Given the description of an element on the screen output the (x, y) to click on. 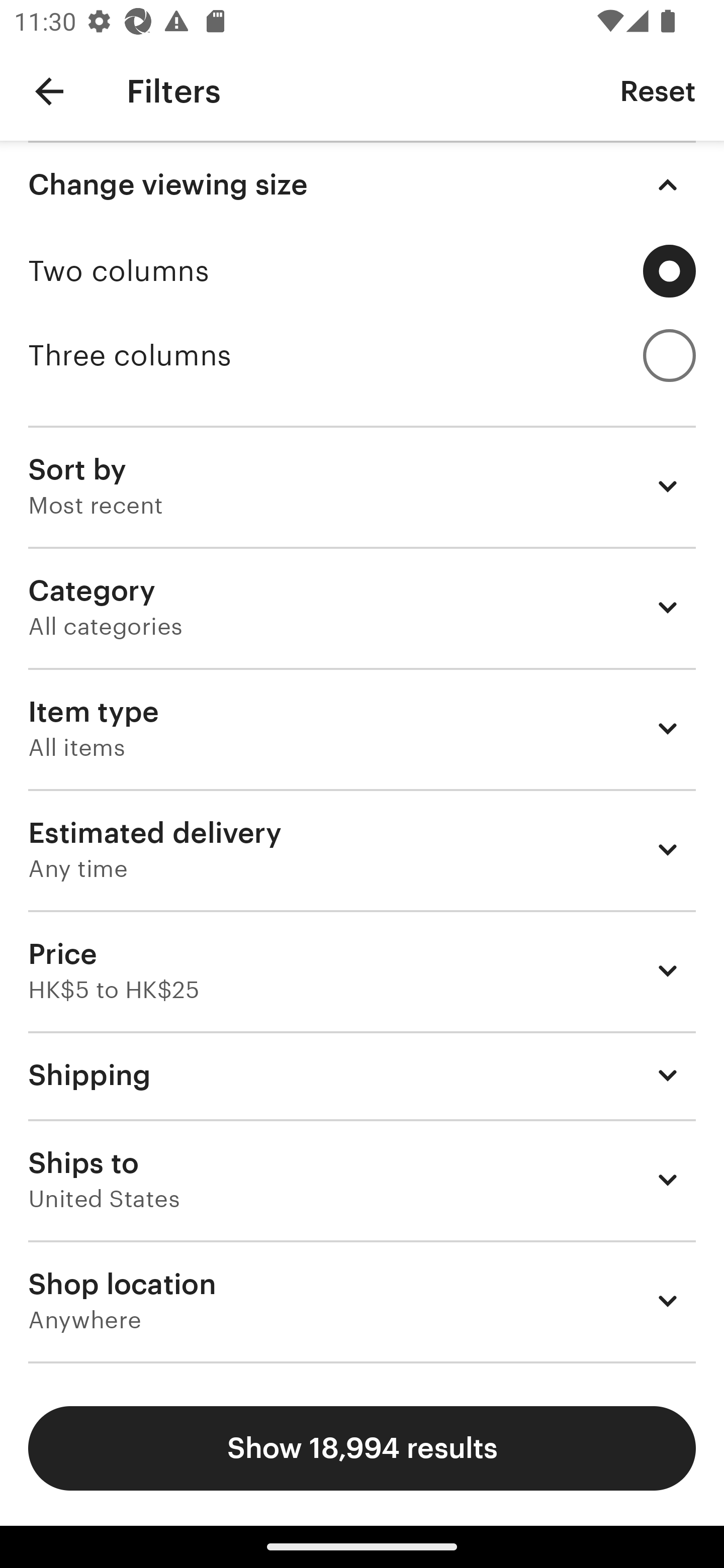
Navigate up (49, 91)
Reset (657, 90)
Change viewing size (362, 184)
Two columns (362, 270)
Three columns (362, 355)
Sort by Most recent (362, 485)
Category All categories (362, 607)
Item type All items (362, 727)
Estimated delivery Any time (362, 848)
Price HK$5 to HK$25 (362, 970)
Shipping (362, 1075)
Ships to United States (362, 1179)
Shop location Anywhere (362, 1300)
Show 18,994 results (361, 1448)
